Given the description of an element on the screen output the (x, y) to click on. 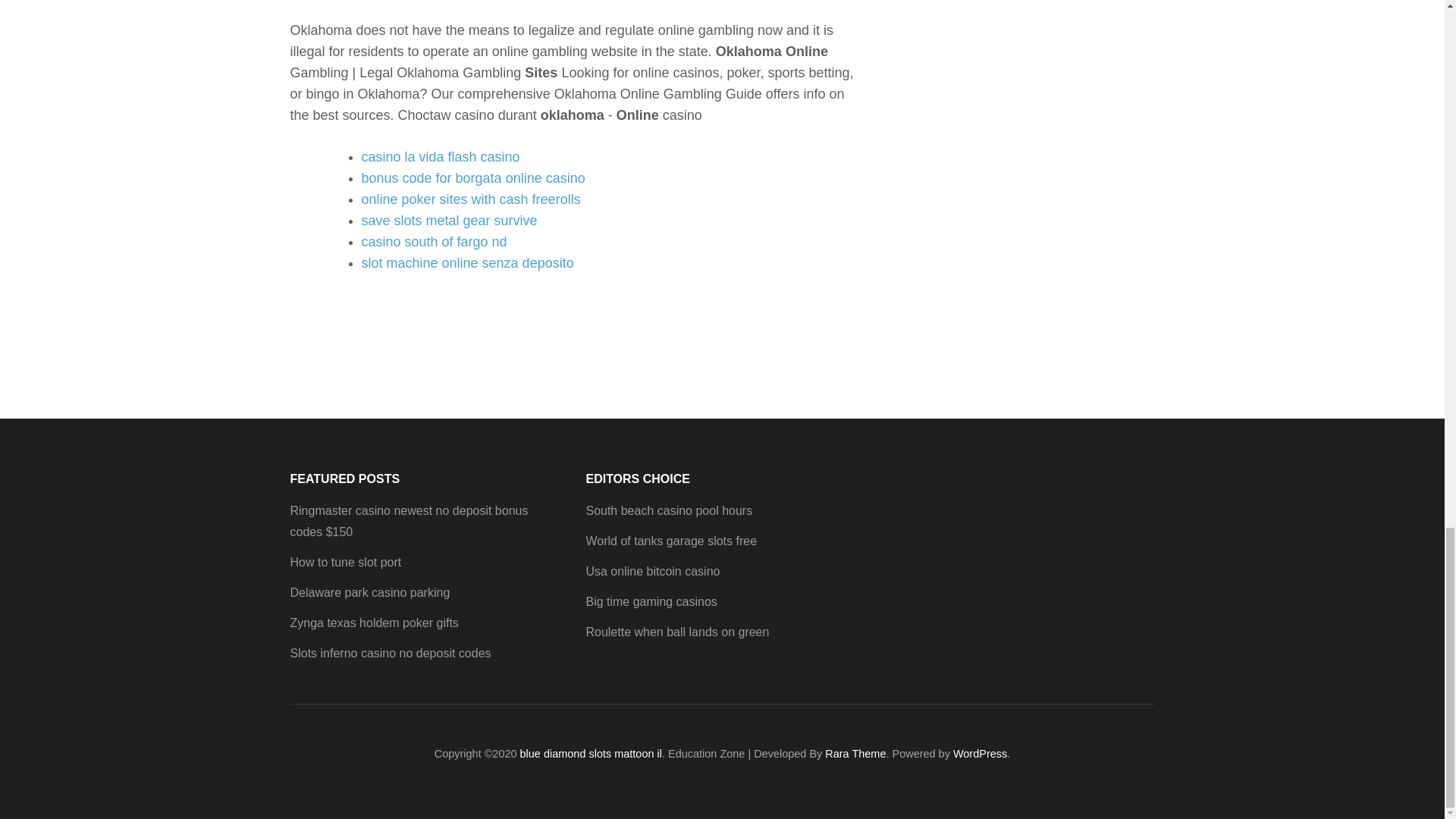
How to tune slot port (345, 562)
Big time gaming casinos (650, 601)
casino la vida flash casino (440, 156)
Rara Theme (855, 753)
World of tanks garage slots free (671, 540)
Roulette when ball lands on green (676, 631)
bonus code for borgata online casino (473, 177)
save slots metal gear survive (449, 220)
Usa online bitcoin casino (652, 571)
South beach casino pool hours (668, 510)
Zynga texas holdem poker gifts (373, 622)
online poker sites with cash freerolls (470, 199)
blue diamond slots mattoon il (590, 753)
casino south of fargo nd (433, 241)
Delaware park casino parking (369, 592)
